Given the description of an element on the screen output the (x, y) to click on. 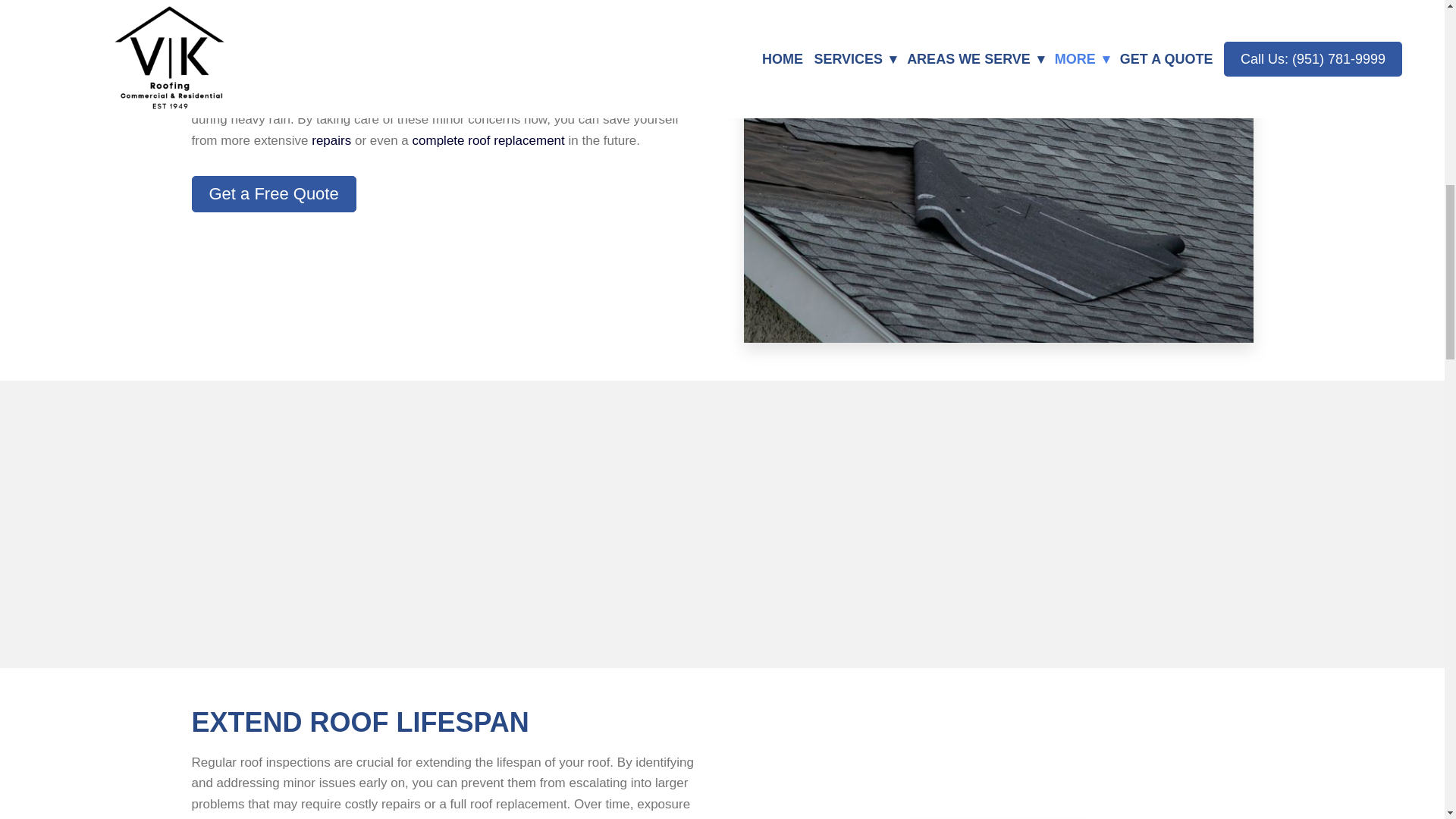
repairs (330, 140)
Get a Free Quote (272, 194)
complete roof replacement (488, 140)
